Given the description of an element on the screen output the (x, y) to click on. 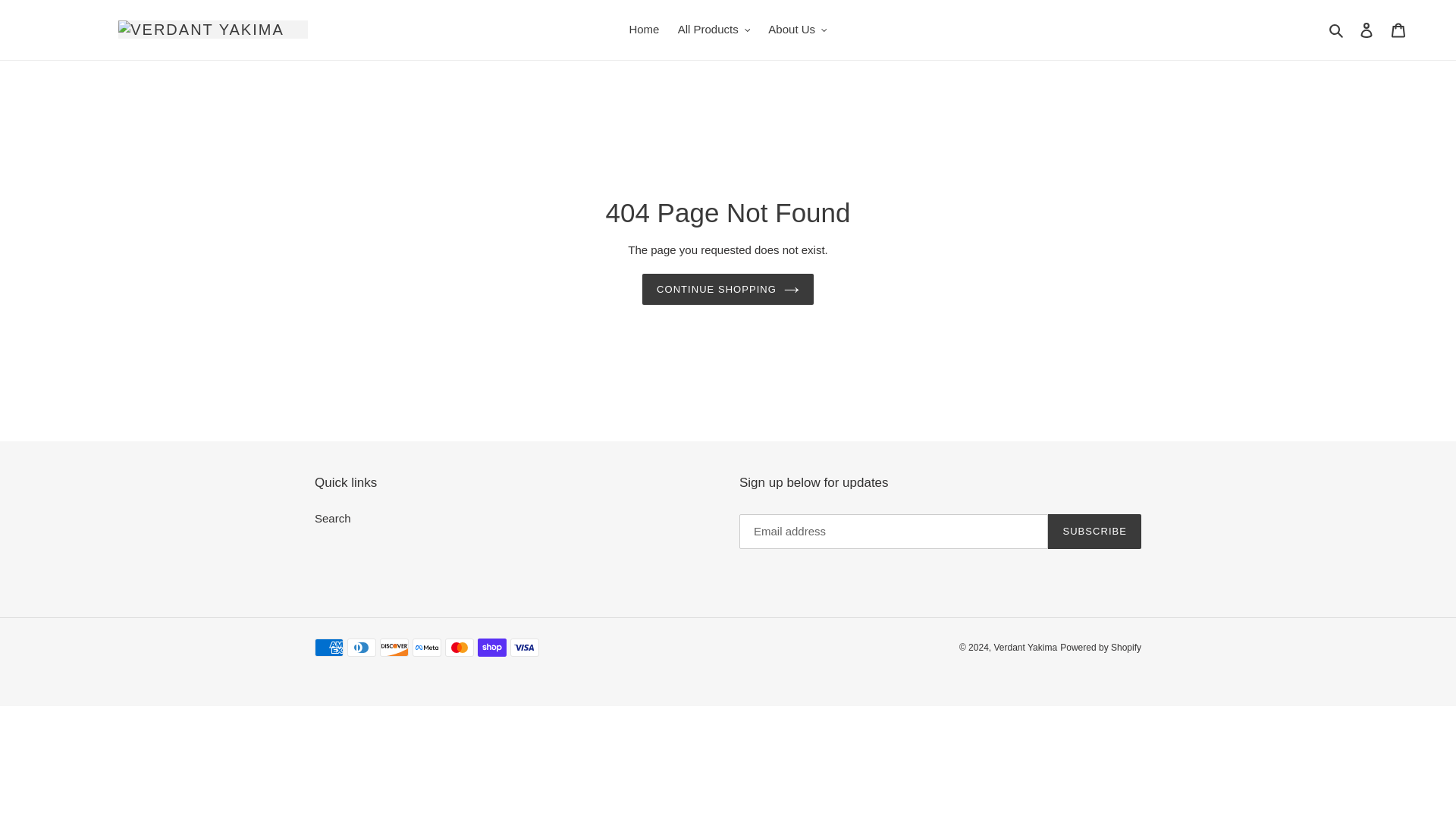
Search (1337, 29)
Log in (1366, 29)
About Us (797, 29)
All Products (713, 29)
Cart (1397, 29)
Home (643, 29)
CONTINUE SHOPPING (727, 289)
